Given the description of an element on the screen output the (x, y) to click on. 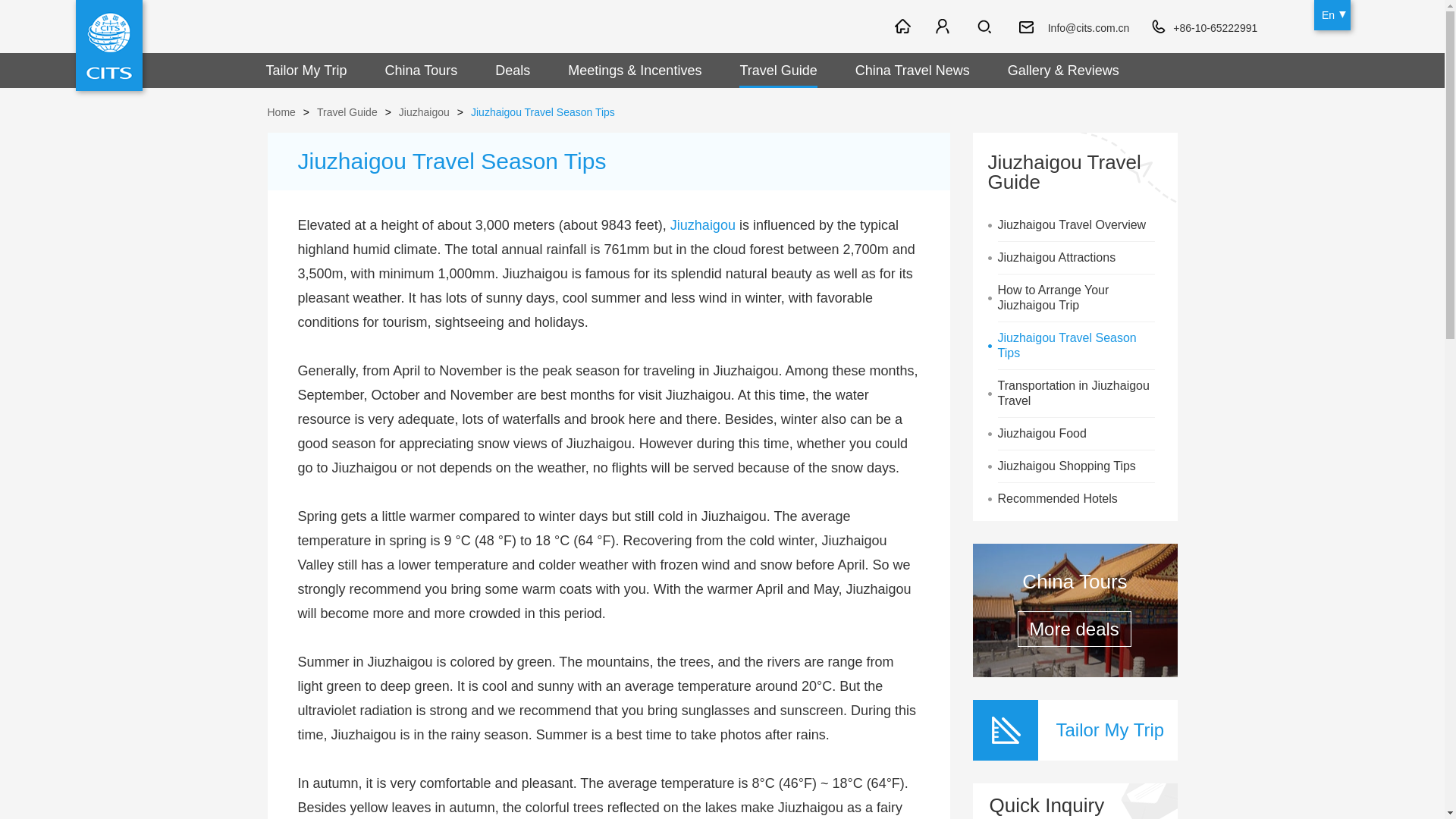
Beijing Tour (876, 25)
En (1332, 15)
China Tours (421, 70)
Tailor My Trip (306, 70)
Jiuzhaigou (702, 224)
